Given the description of an element on the screen output the (x, y) to click on. 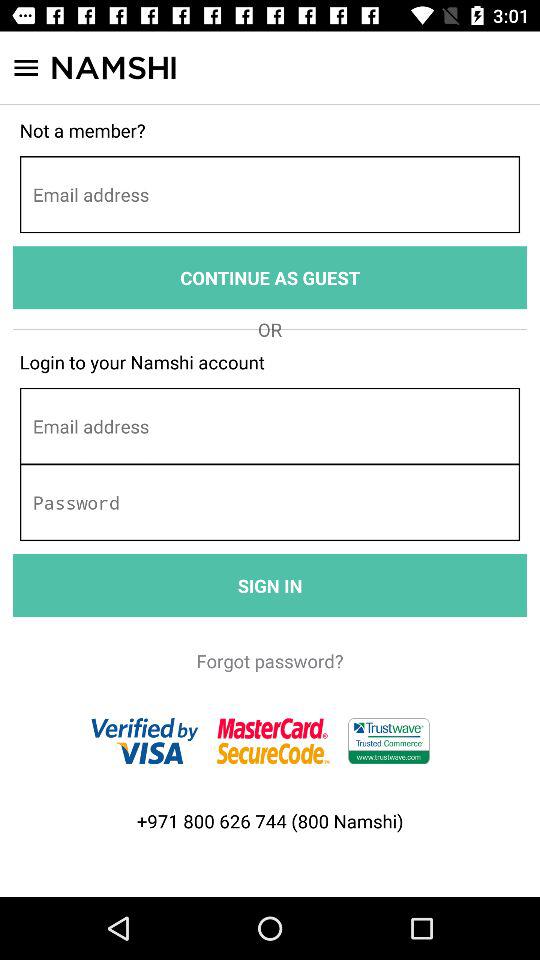
jump until the continue as guest (269, 277)
